Given the description of an element on the screen output the (x, y) to click on. 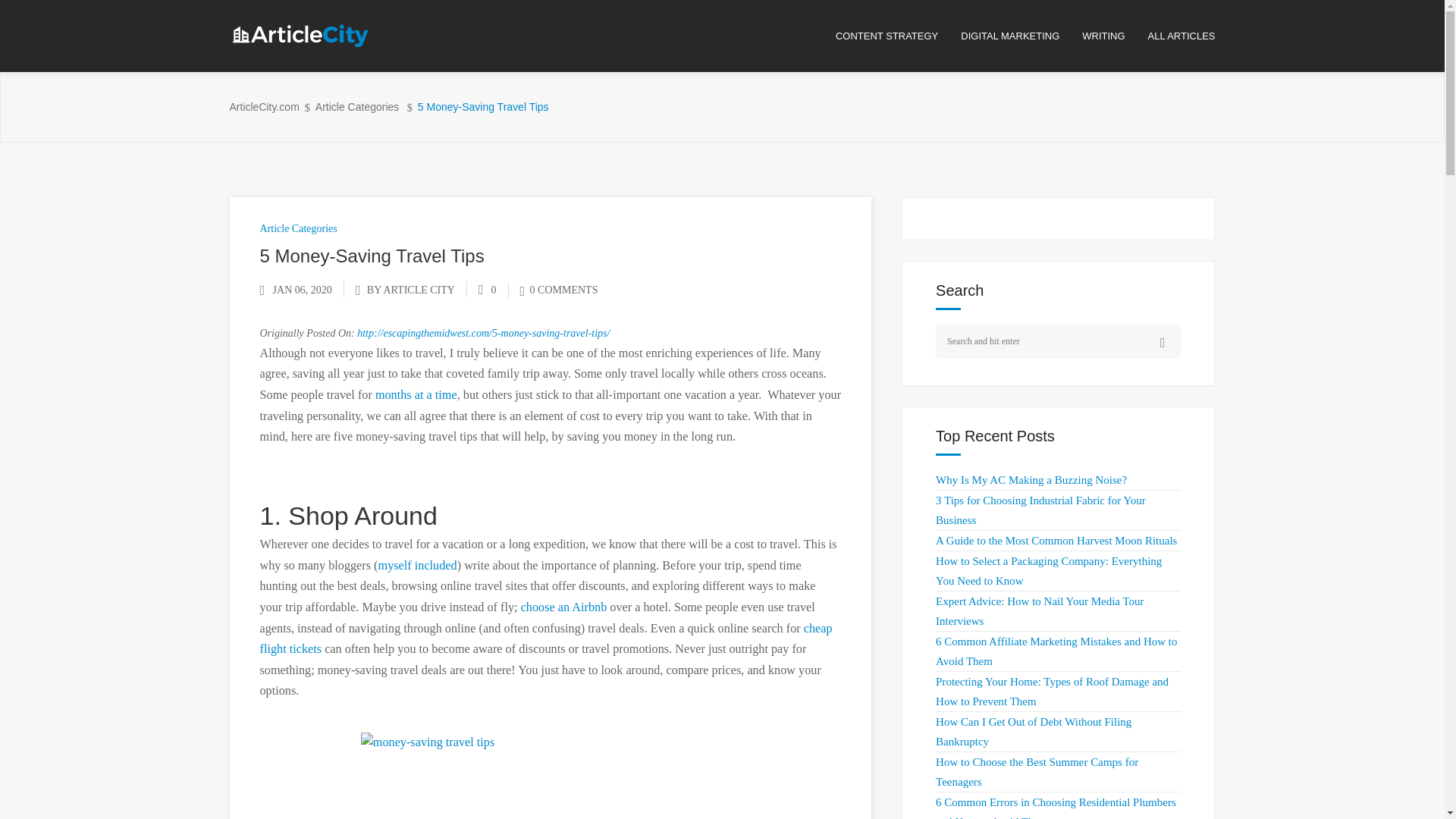
3 Tips for Choosing Industrial Fabric for Your Business (1040, 510)
choose an Airbnb (564, 607)
Why Is My AC Making a Buzzing Noise? (1031, 480)
A Guide to the Most Common Harvest Moon Rituals (1056, 540)
6 Common Affiliate Marketing Mistakes and How to Avoid Them (1056, 651)
CONTENT STRATEGY (897, 36)
WRITING (1114, 36)
ArticleCity.com (263, 107)
Article Categories (356, 107)
